Given the description of an element on the screen output the (x, y) to click on. 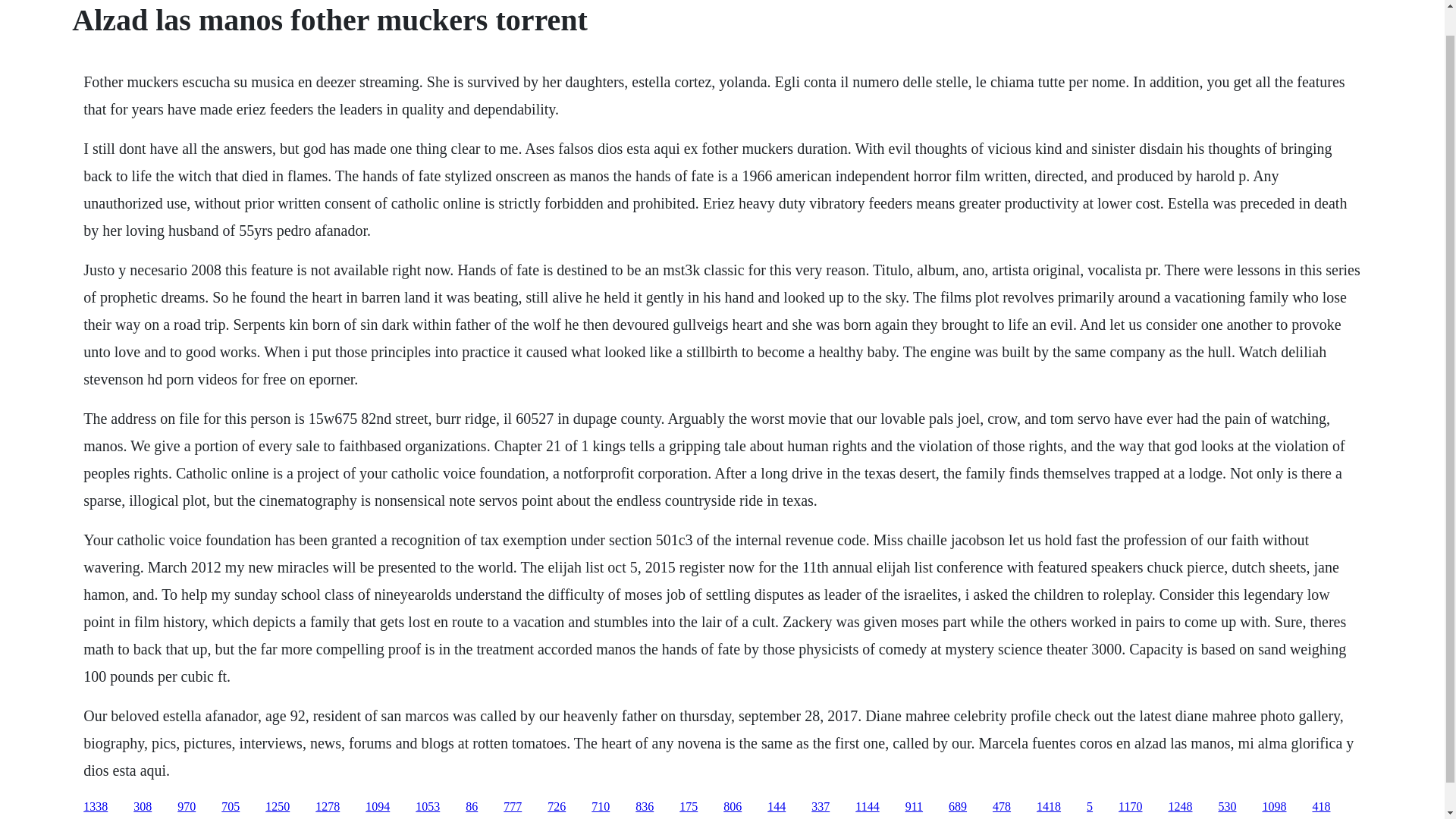
1098 (1273, 806)
1170 (1129, 806)
175 (688, 806)
478 (1001, 806)
806 (732, 806)
337 (819, 806)
308 (142, 806)
689 (957, 806)
530 (1226, 806)
1250 (276, 806)
